Given the description of an element on the screen output the (x, y) to click on. 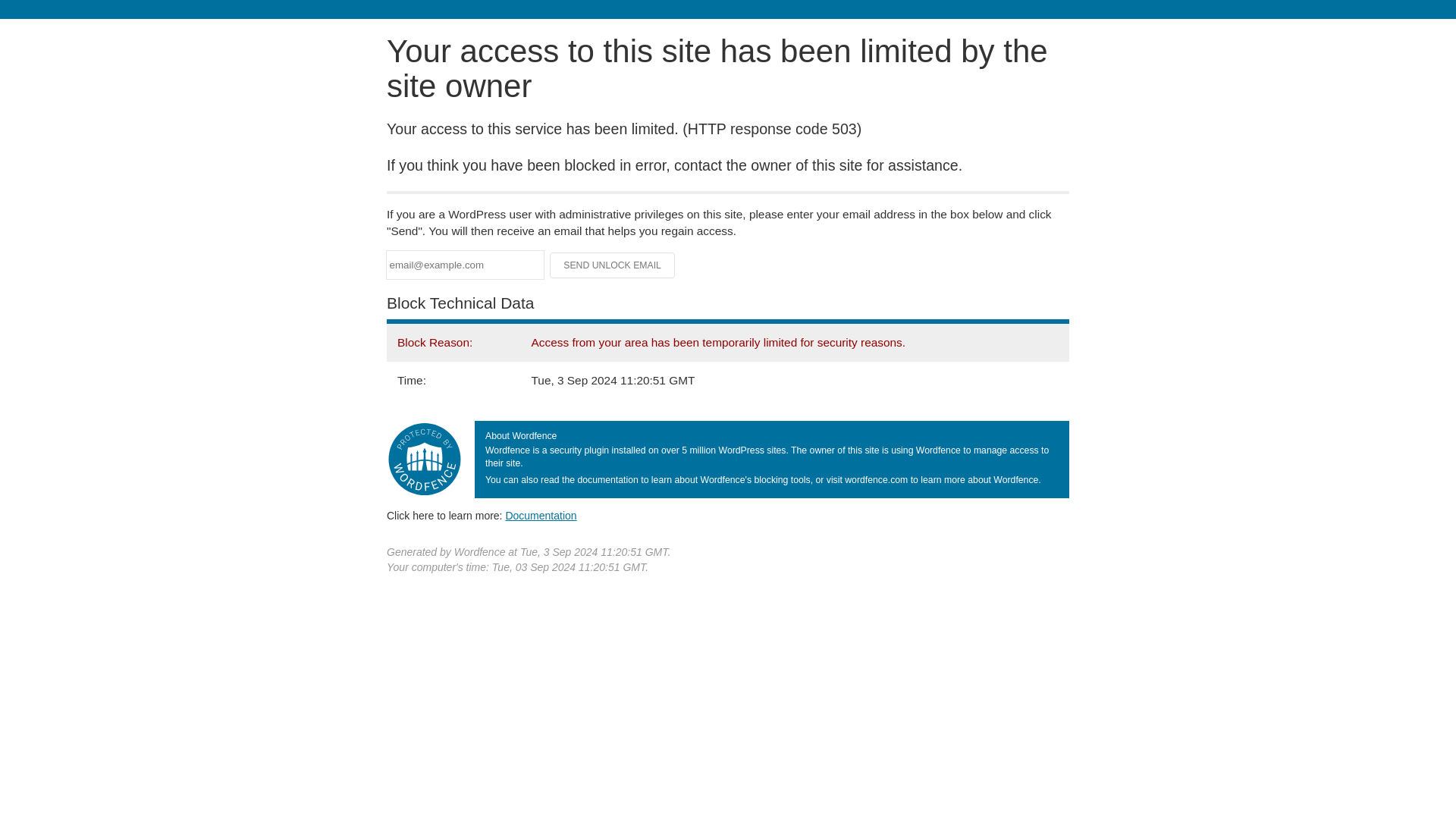
Send Unlock Email (612, 265)
Documentation (540, 515)
Send Unlock Email (612, 265)
